Given the description of an element on the screen output the (x, y) to click on. 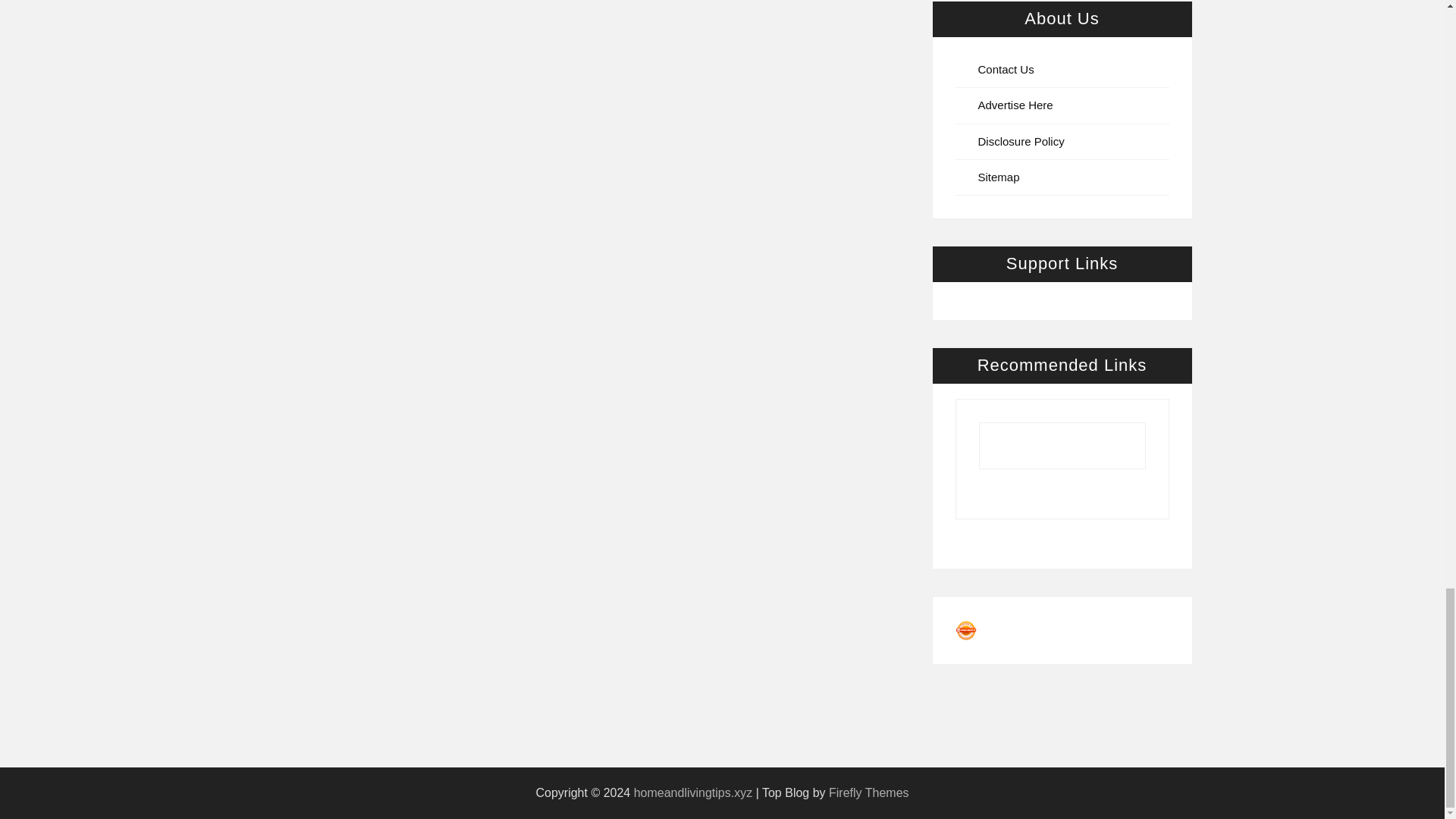
Seedbacklink (965, 629)
